Given the description of an element on the screen output the (x, y) to click on. 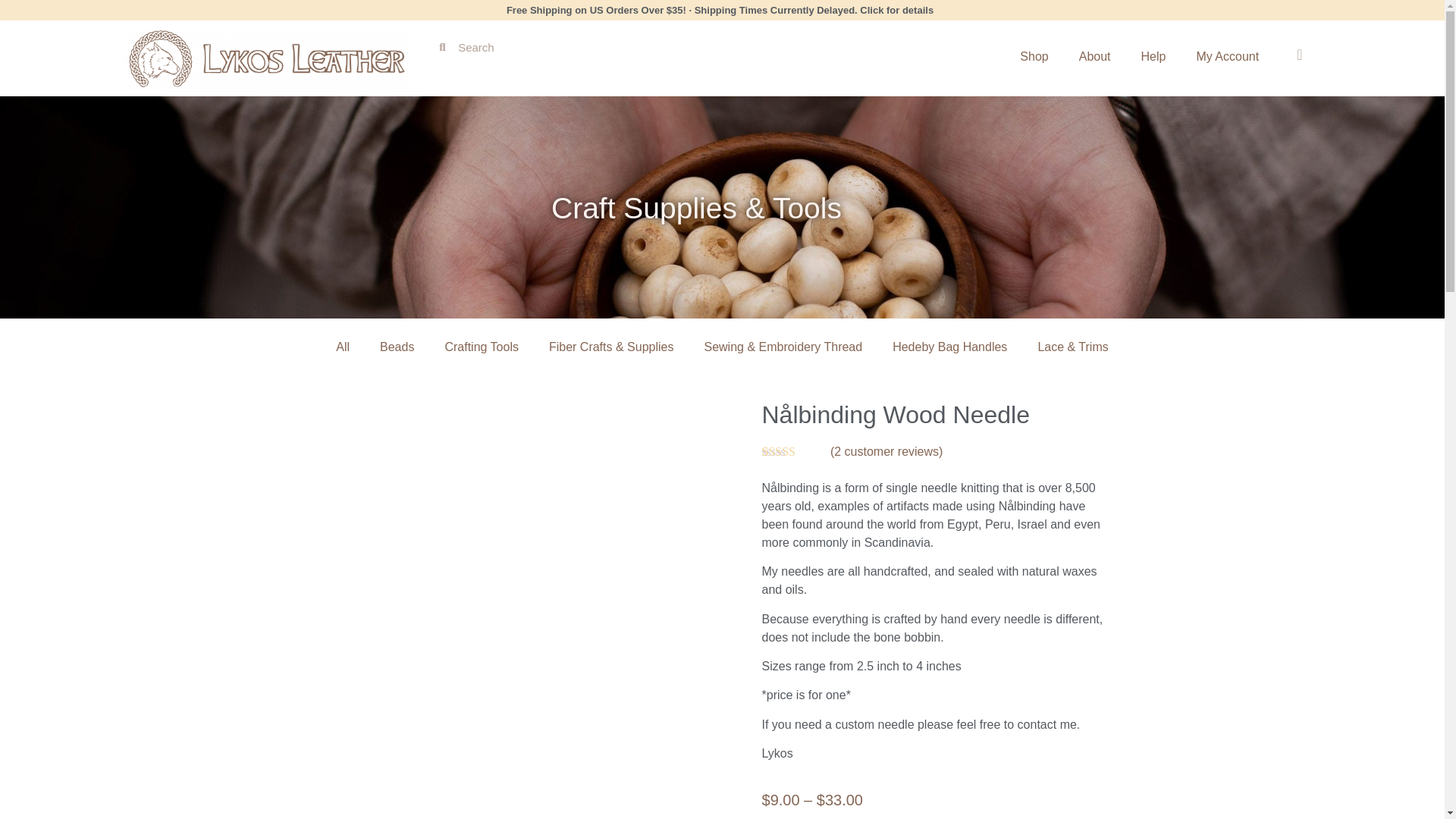
Shop (1033, 56)
